Given the description of an element on the screen output the (x, y) to click on. 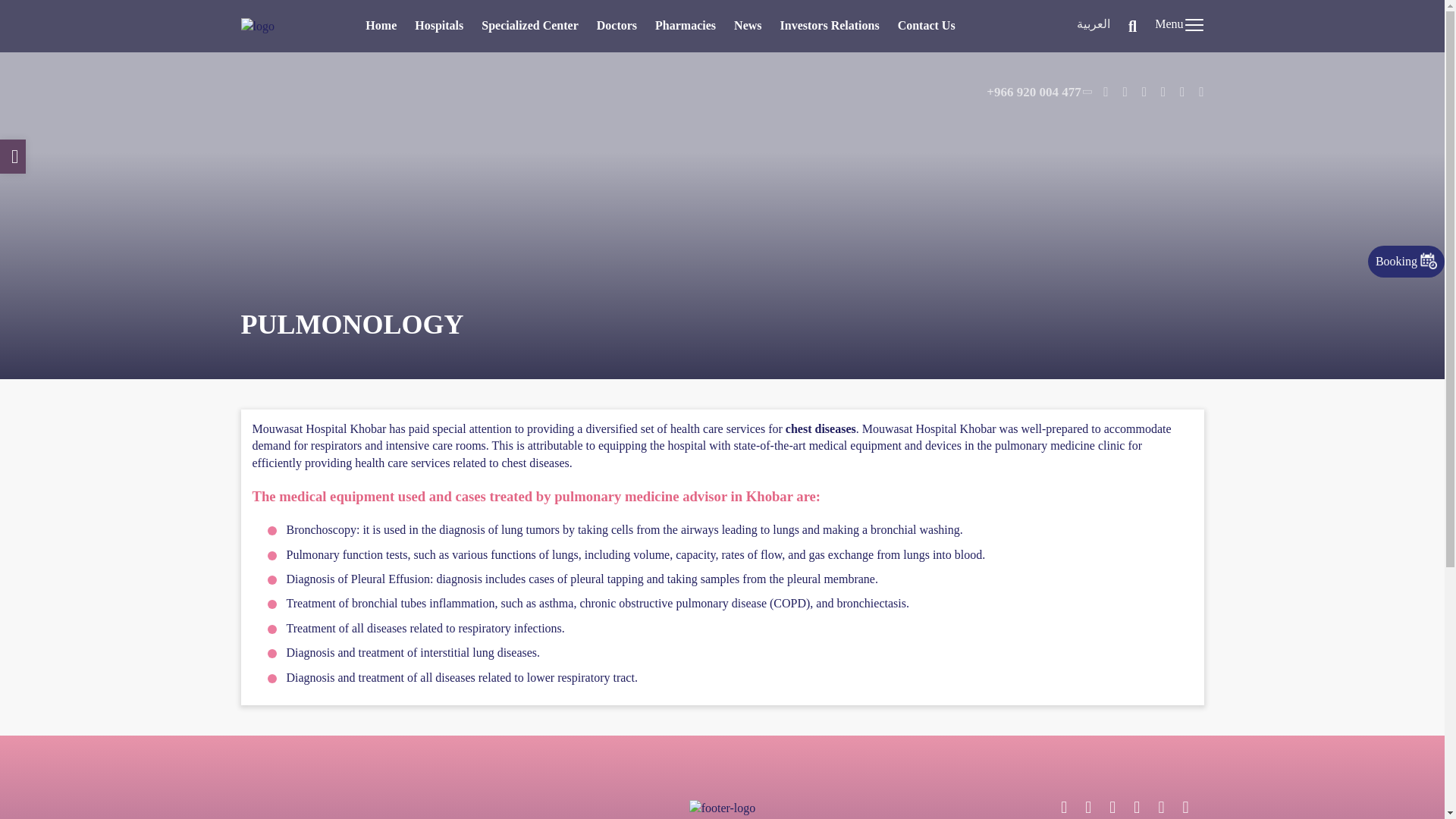
Menu (1179, 25)
Investors Relations (829, 24)
Pharmacies (685, 24)
Hospitals (438, 24)
Doctors (616, 24)
Specialized Center (529, 24)
Home (380, 24)
News (747, 24)
Contact Us (926, 24)
